Given the description of an element on the screen output the (x, y) to click on. 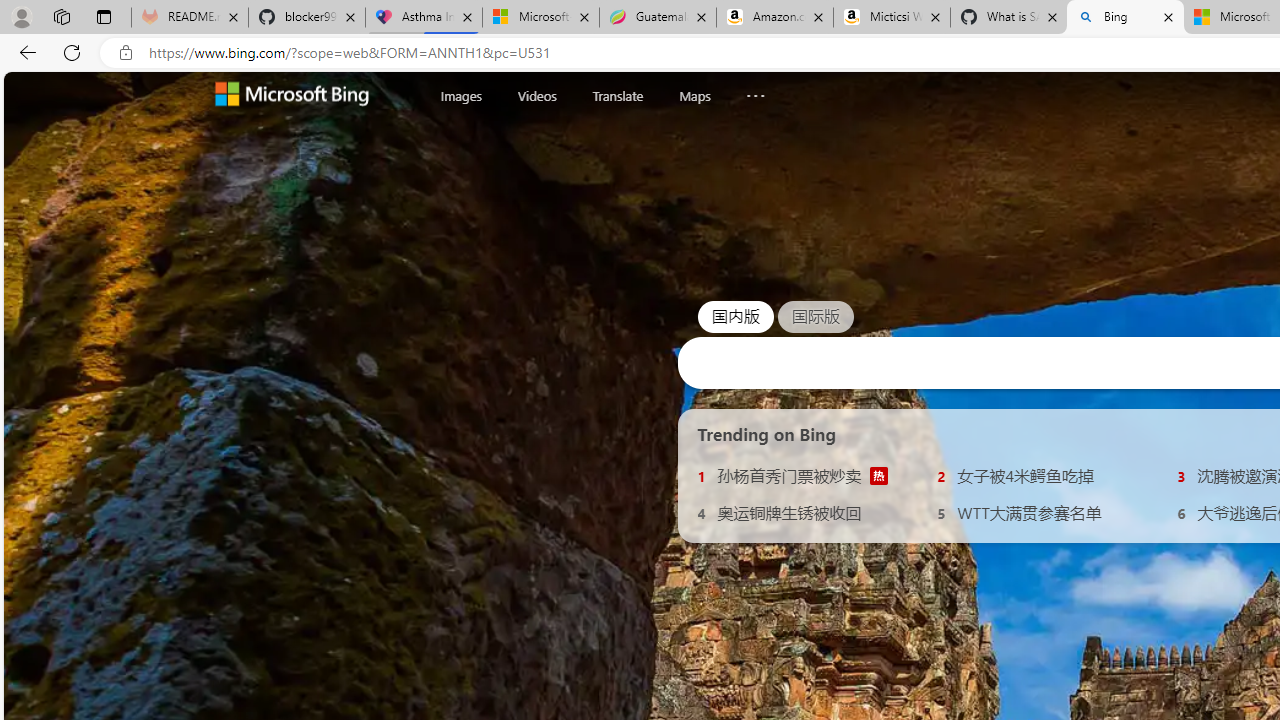
Asthma Inhalers: Names and Types (424, 17)
Translate (617, 95)
Images (461, 95)
Maps (694, 95)
Bing (1124, 17)
More (755, 91)
